Given the description of an element on the screen output the (x, y) to click on. 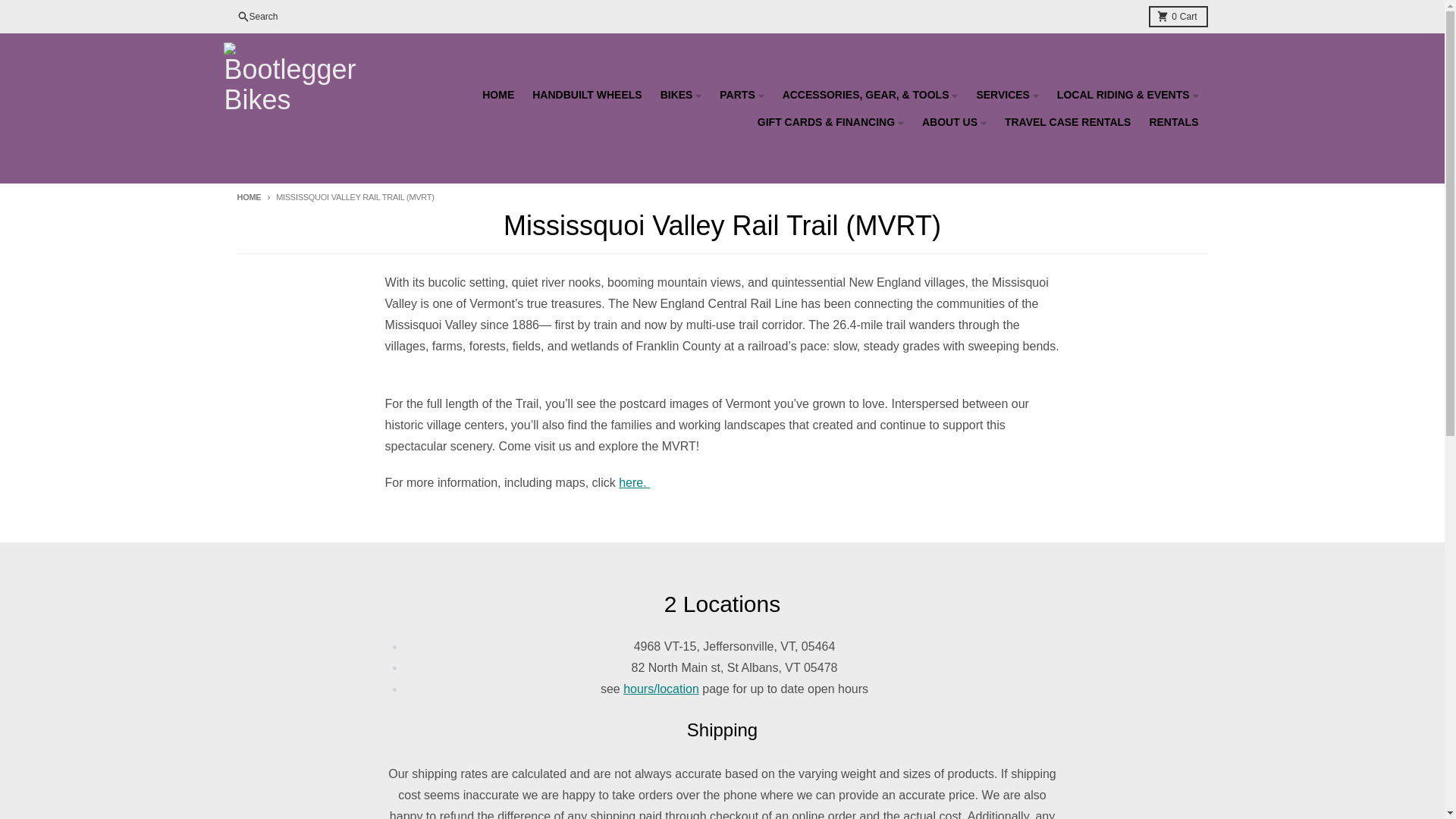
Search (256, 16)
Back to the homepage (247, 196)
